Given the description of an element on the screen output the (x, y) to click on. 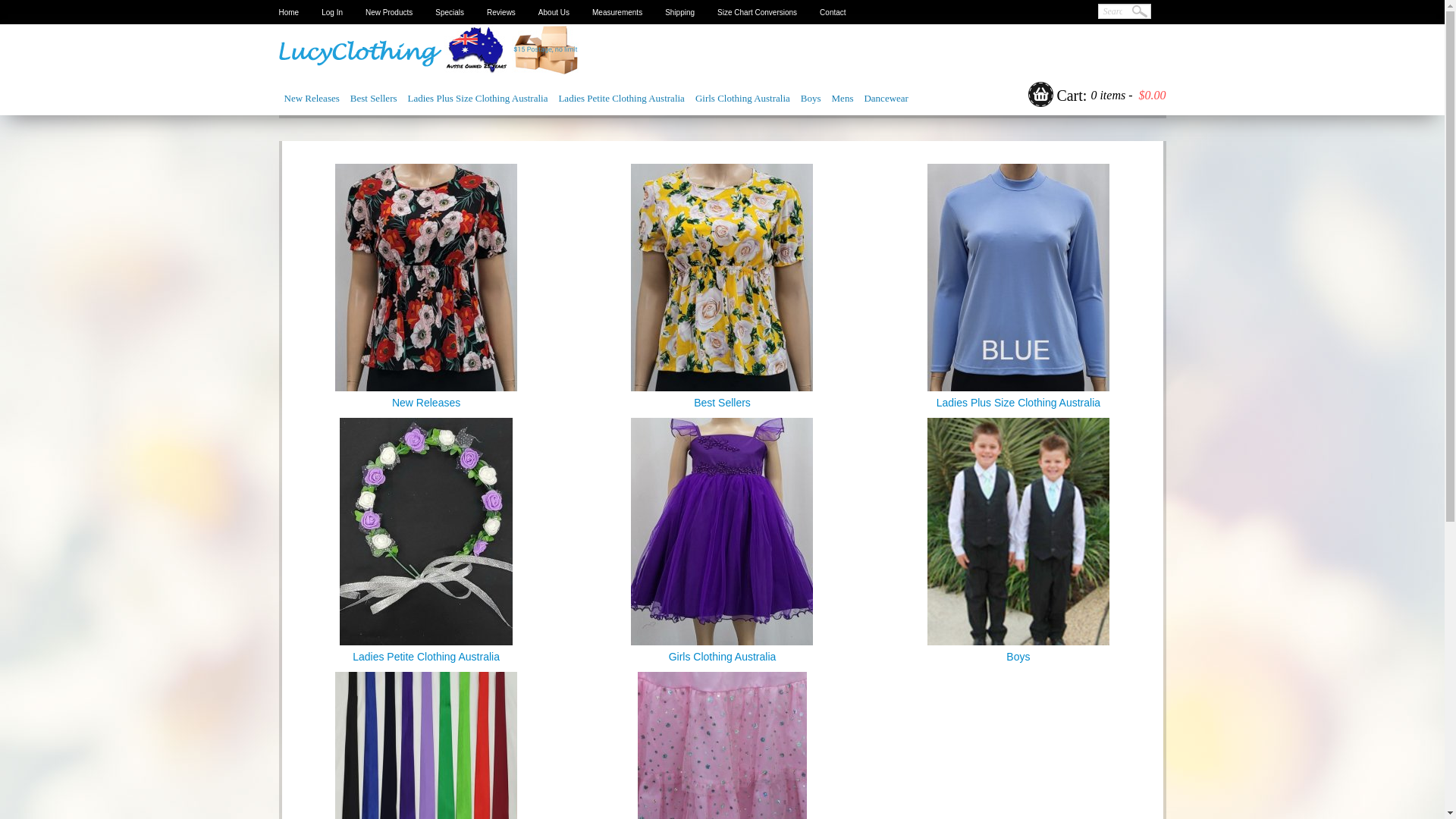
Best Sellers Element type: text (373, 99)
 Best Sellers  Element type: hover (721, 277)
Girls Clothing Australia Element type: text (721, 594)
Best Sellers Element type: text (721, 340)
Size Chart Conversions Element type: text (757, 12)
Cart:
0 items -  $0.00 Element type: text (1095, 95)
 Ladies Petite Clothing Australia  Element type: hover (425, 530)
Girls Clothing Australia Element type: text (742, 99)
New Releases Element type: text (312, 99)
Specials Element type: text (449, 12)
Boys Element type: text (1018, 594)
 Girls Clothing Australia  Element type: hover (721, 530)
New Products Element type: text (388, 12)
Boys Element type: text (810, 99)
Reviews Element type: text (500, 12)
submit Element type: text (1138, 11)
Ladies Plus Size Clothing Australia Element type: text (477, 99)
About Us Element type: text (553, 12)
Ladies Plus Size Clothing Australia Element type: text (1018, 340)
Ladies Petite Clothing Australia Element type: text (425, 594)
Mens Element type: text (842, 99)
Shipping Element type: text (679, 12)
Dancewear Element type: text (885, 99)
 Boys  Element type: hover (1018, 530)
Measurements Element type: text (617, 12)
Contact Element type: text (832, 12)
Log In Element type: text (331, 12)
Ladies Petite Clothing Australia Element type: text (620, 99)
Home Element type: text (289, 12)
 Ladies Plus Size Clothing Australia  Element type: hover (1018, 277)
New Releases Element type: text (426, 340)
 New Releases  Element type: hover (426, 277)
